Given the description of an element on the screen output the (x, y) to click on. 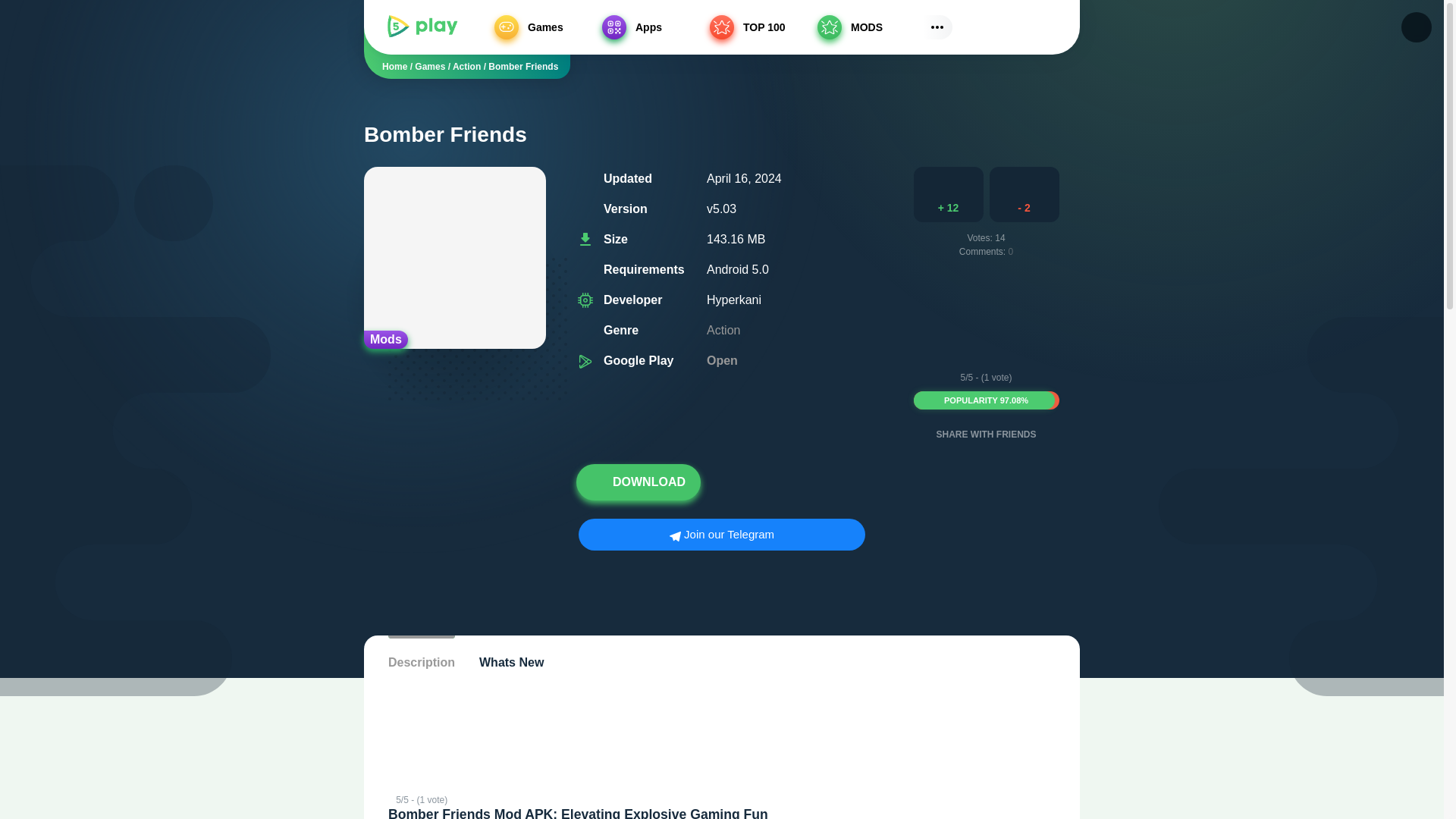
Dislike (1024, 194)
5Play (421, 27)
Application popularity (1024, 194)
Find (986, 400)
Action (1051, 27)
Open (466, 66)
Apps (730, 359)
Games (652, 27)
MODS (429, 66)
